Given the description of an element on the screen output the (x, y) to click on. 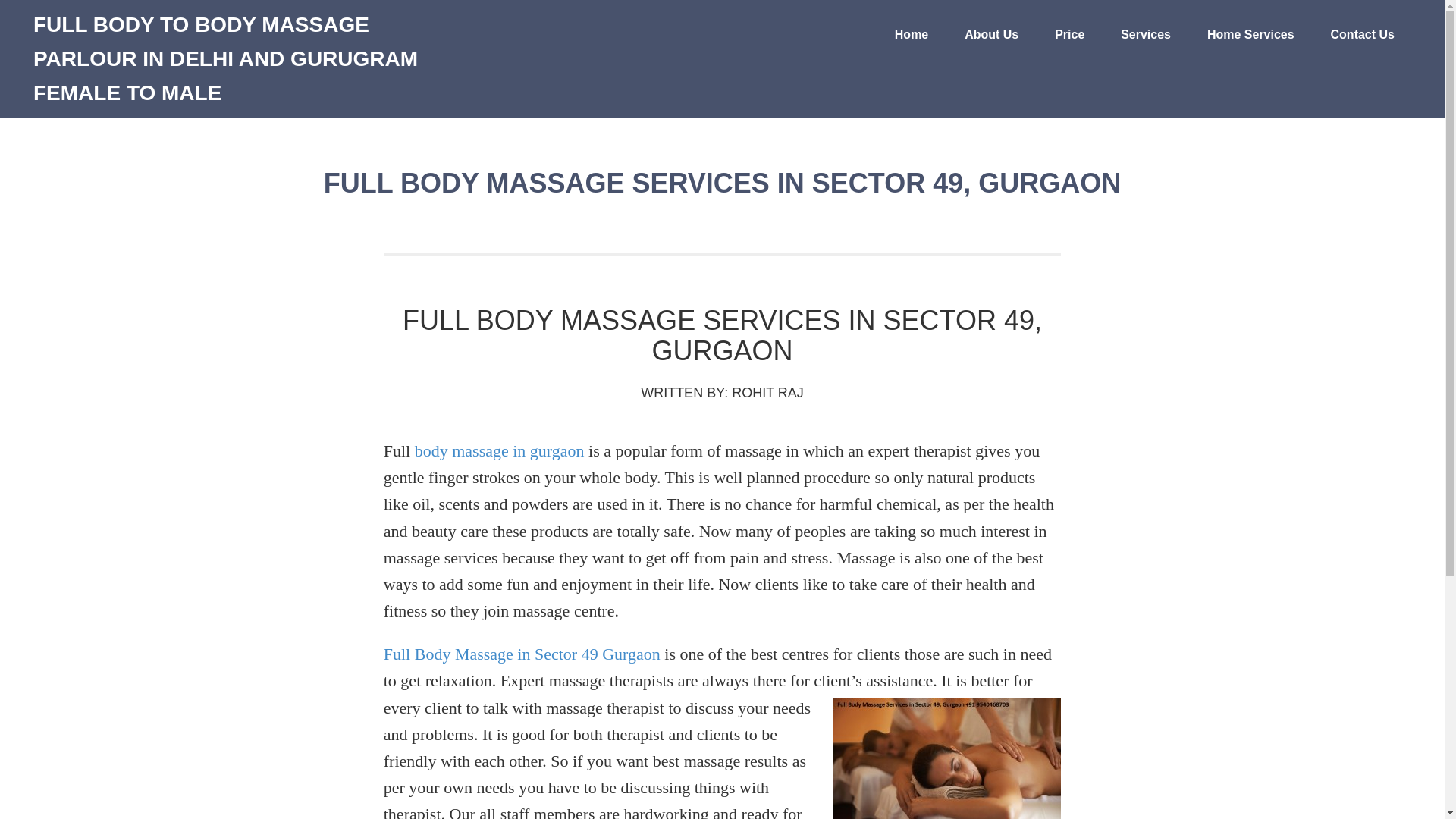
Full Body Massage in Sector 49 Gurgaon (522, 653)
Home Services (1251, 34)
Posts by Rohit Raj (767, 392)
ROHIT RAJ (767, 392)
Contact Us (1362, 34)
body massage in gurgaon (499, 450)
About Us (991, 34)
Price (1069, 34)
Full Body Massage Services in Sector 49, Gurgaon (722, 335)
Home (910, 34)
